Given the description of an element on the screen output the (x, y) to click on. 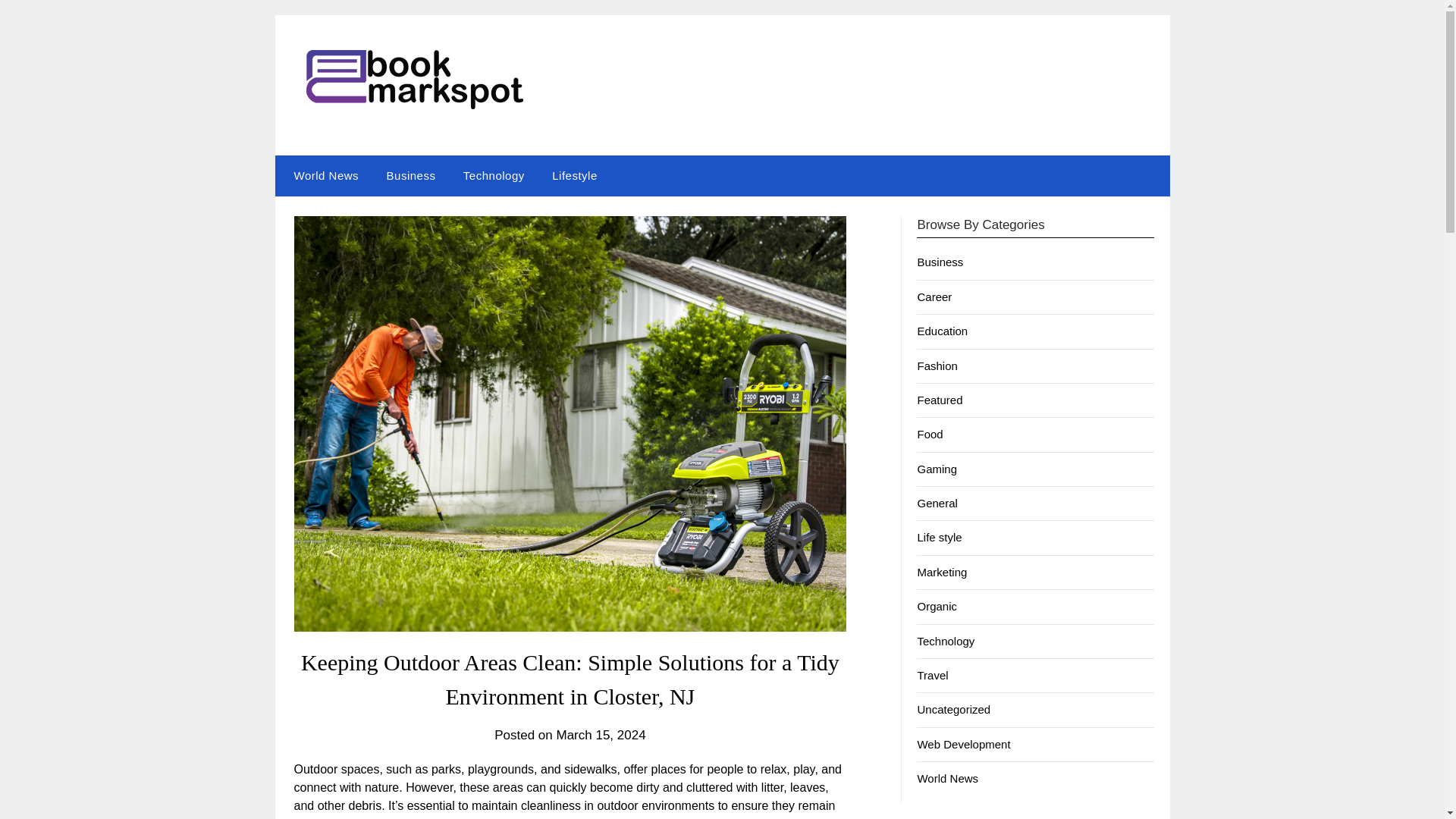
Marketing (941, 571)
Fashion (936, 365)
Technology (945, 640)
Food (929, 433)
Business (411, 175)
Uncategorized (953, 708)
Gaming (936, 468)
Business (939, 261)
Technology (494, 175)
Life style (938, 536)
Education (942, 330)
Lifestyle (575, 175)
Travel (932, 675)
General (936, 502)
Career (934, 296)
